Given the description of an element on the screen output the (x, y) to click on. 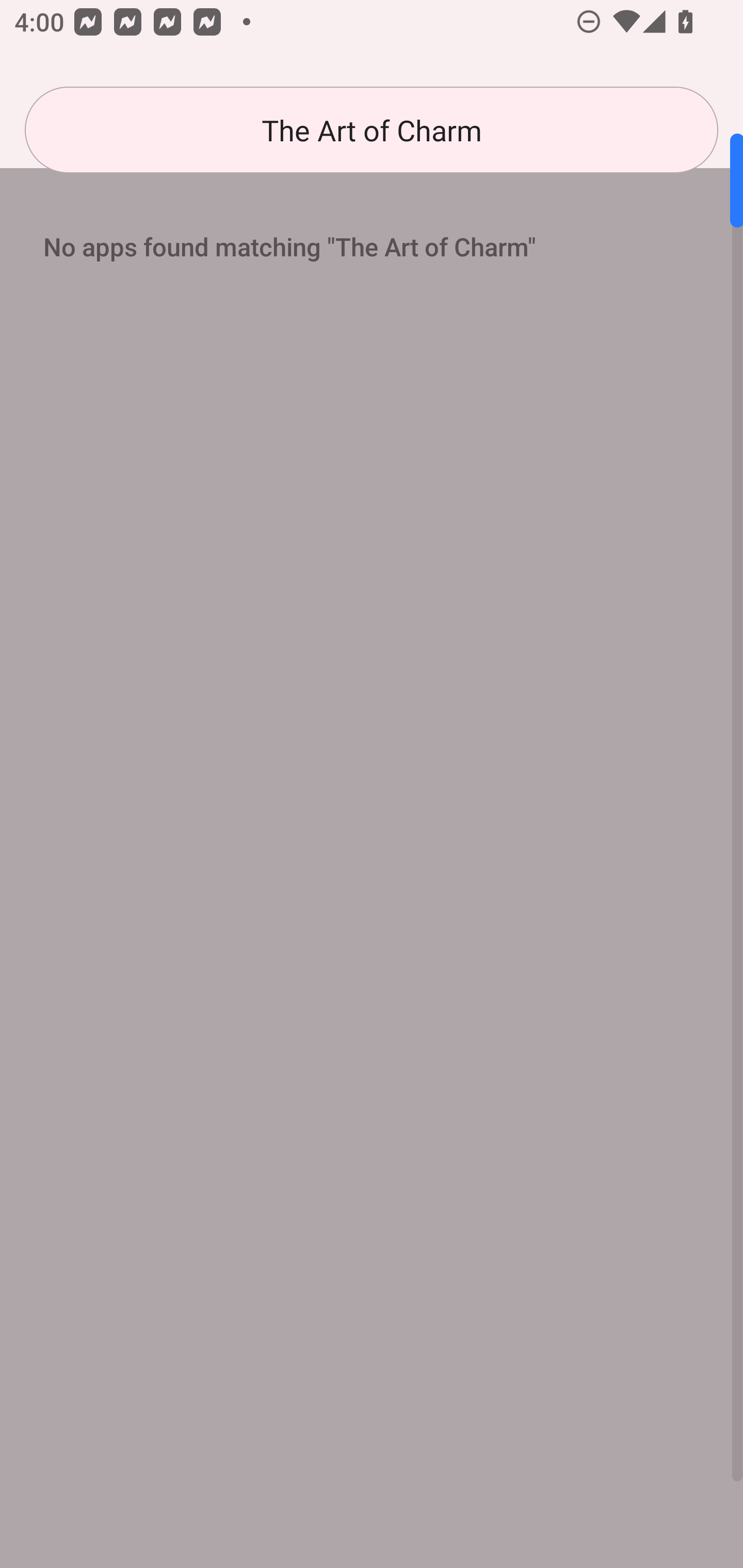
The Art of Charm (371, 130)
